Given the description of an element on the screen output the (x, y) to click on. 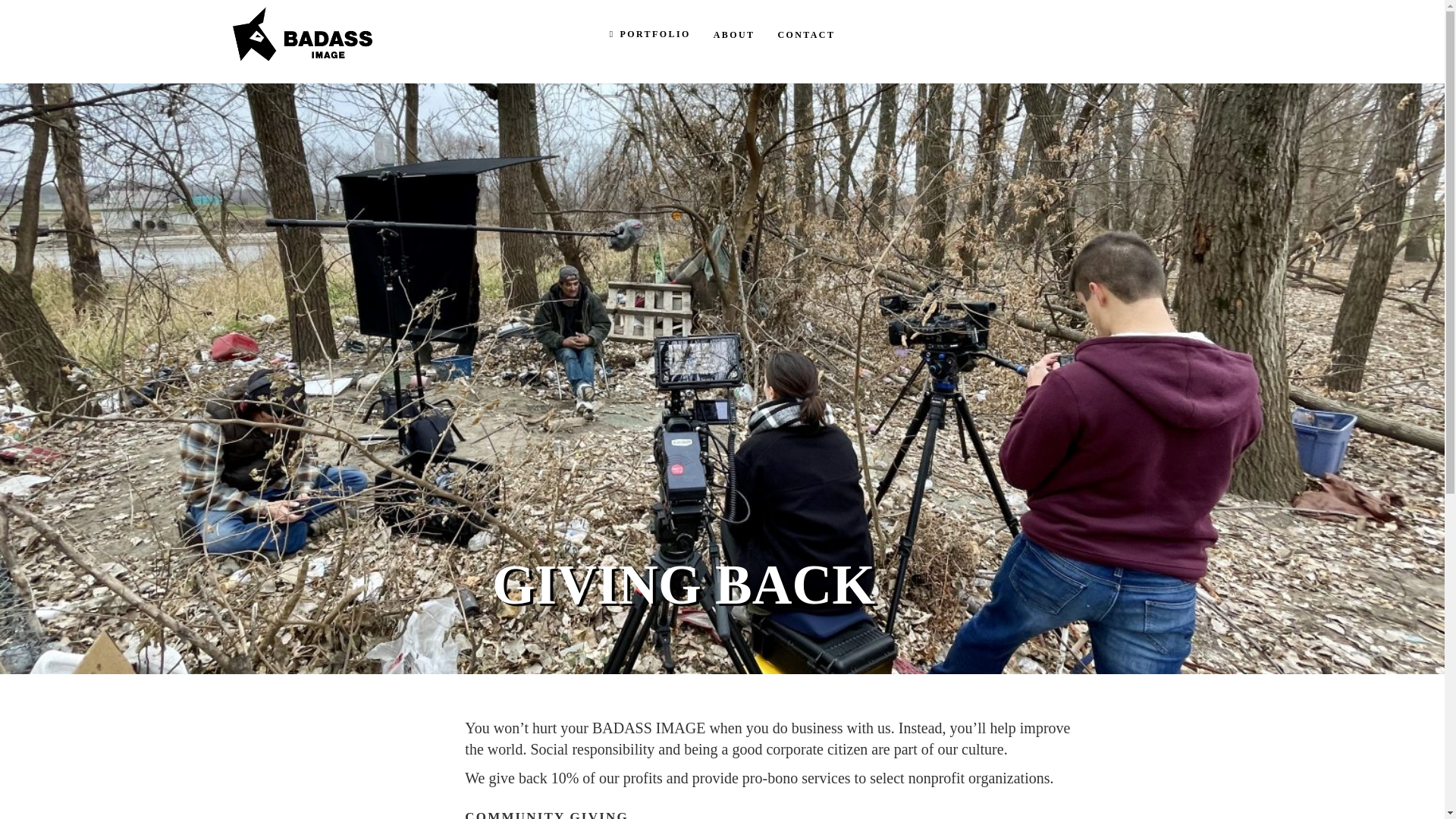
ABOUT (734, 33)
CONTACT (805, 33)
PORTFOLIO (649, 33)
